Given the description of an element on the screen output the (x, y) to click on. 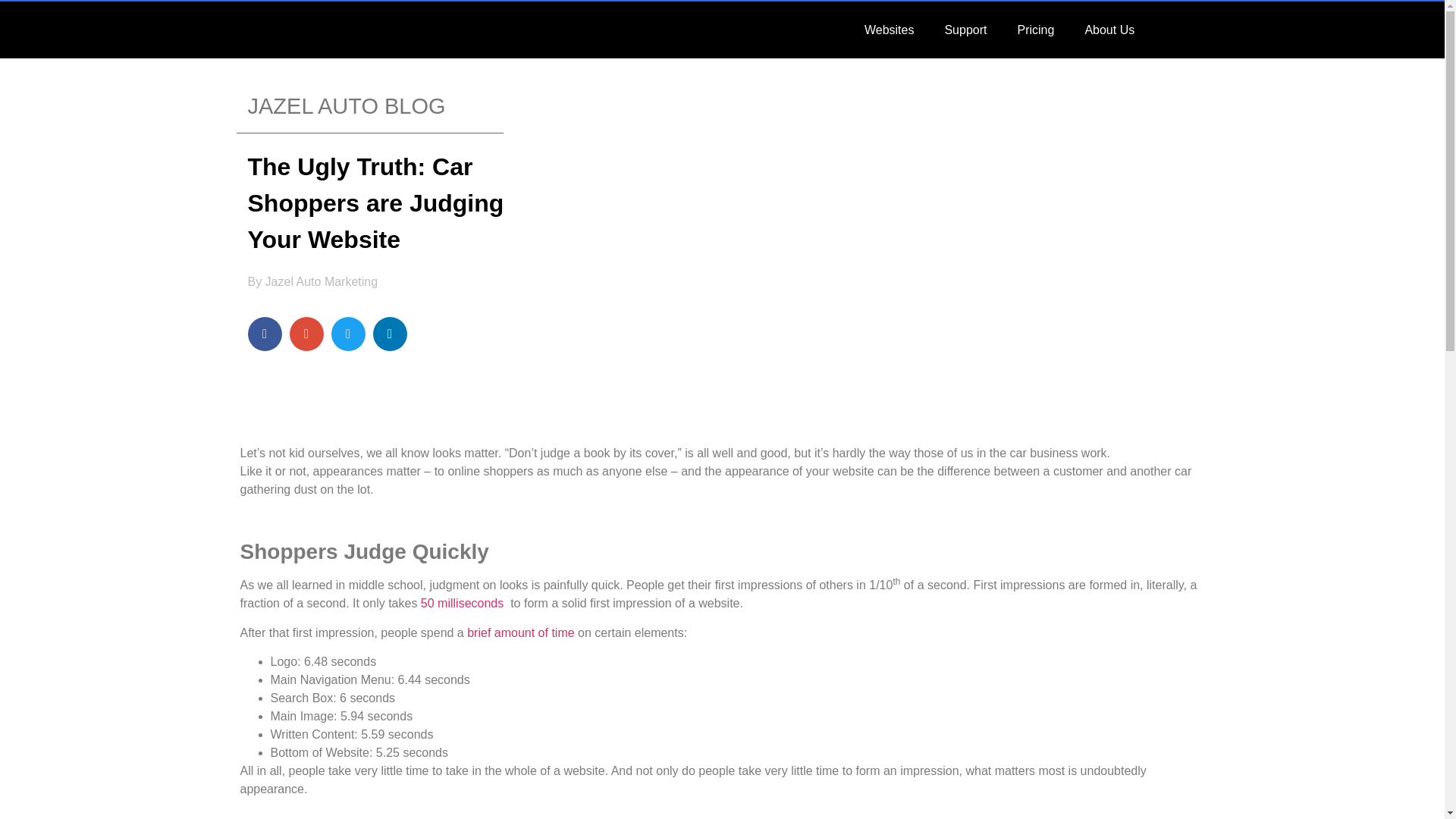
Websites (889, 29)
50 milliseconds (461, 603)
brief amount of time (520, 632)
Support (964, 29)
About Us (1109, 29)
Pricing (1034, 29)
